Given the description of an element on the screen output the (x, y) to click on. 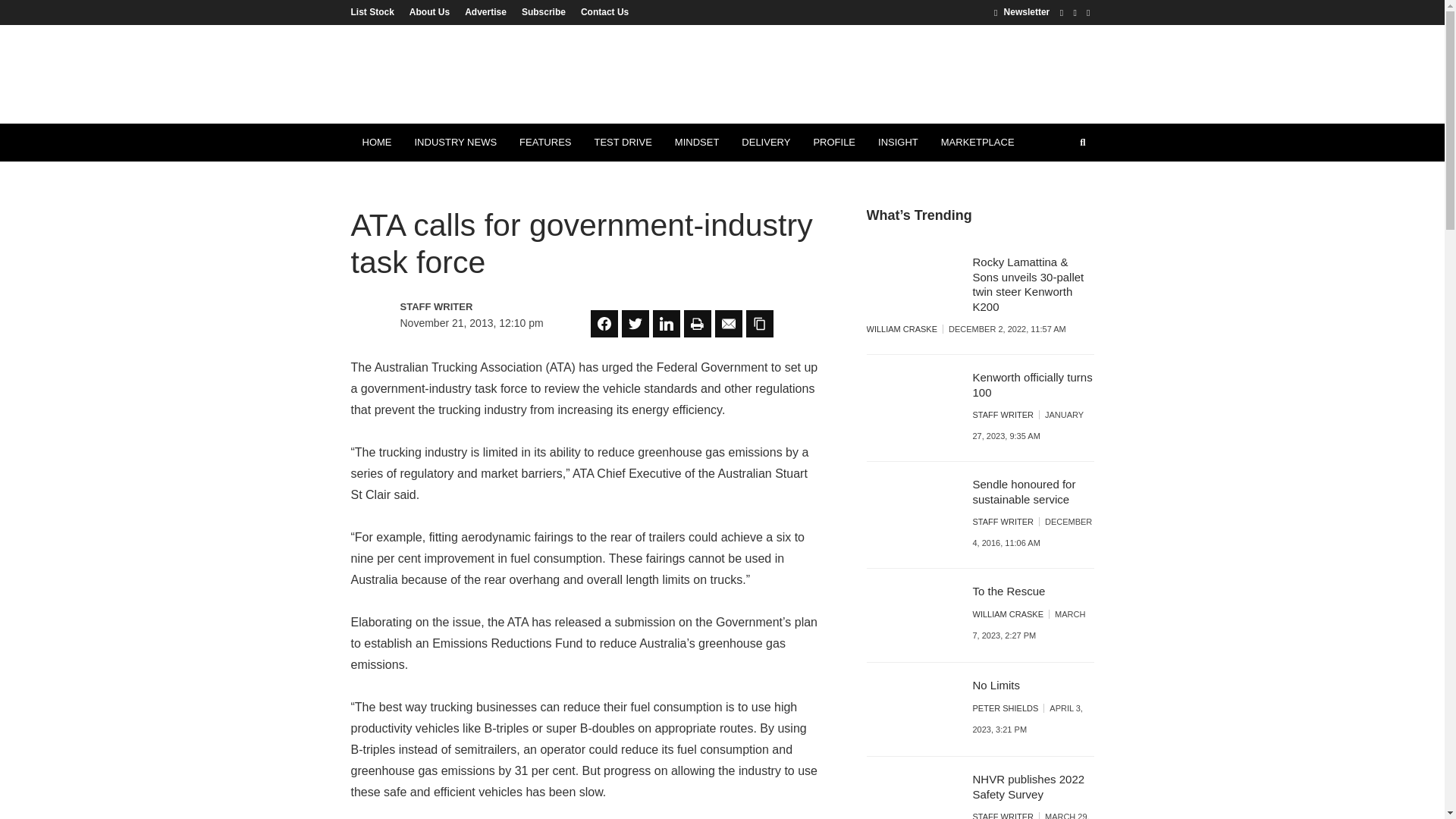
HOME (376, 142)
Newsletter (1021, 11)
Advertise (485, 11)
TEST DRIVE (622, 142)
Share on Copy Link (759, 323)
View all posts by Staff Writer (465, 306)
INSIGHT (898, 142)
Share on Email (728, 323)
About Us (429, 11)
FEATURES (545, 142)
